Given the description of an element on the screen output the (x, y) to click on. 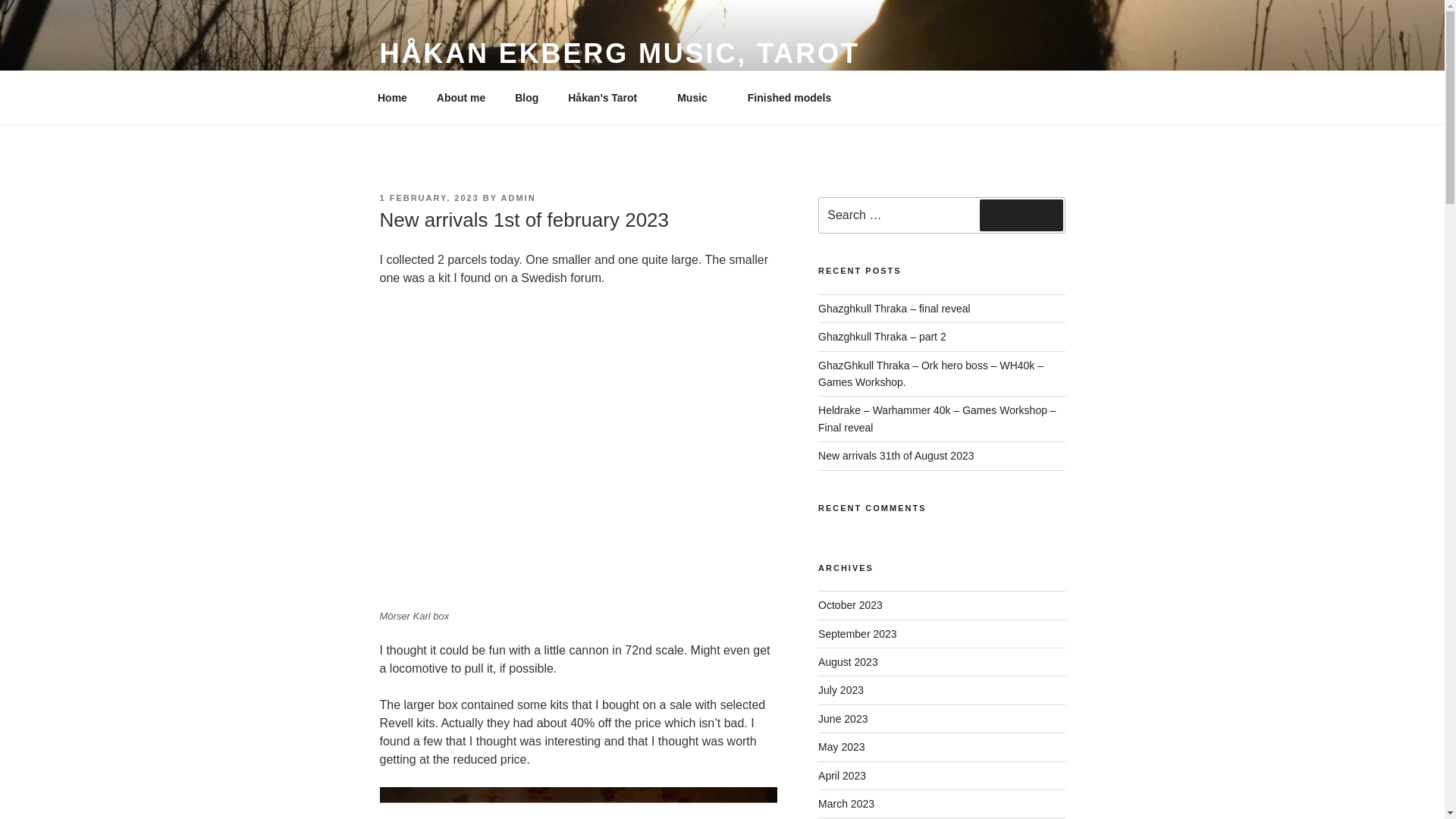
ADMIN (517, 197)
Blog (526, 97)
Music (697, 97)
Finished models (793, 97)
Home (392, 97)
About me (461, 97)
Search (1020, 214)
1 FEBRUARY, 2023 (428, 197)
